Given the description of an element on the screen output the (x, y) to click on. 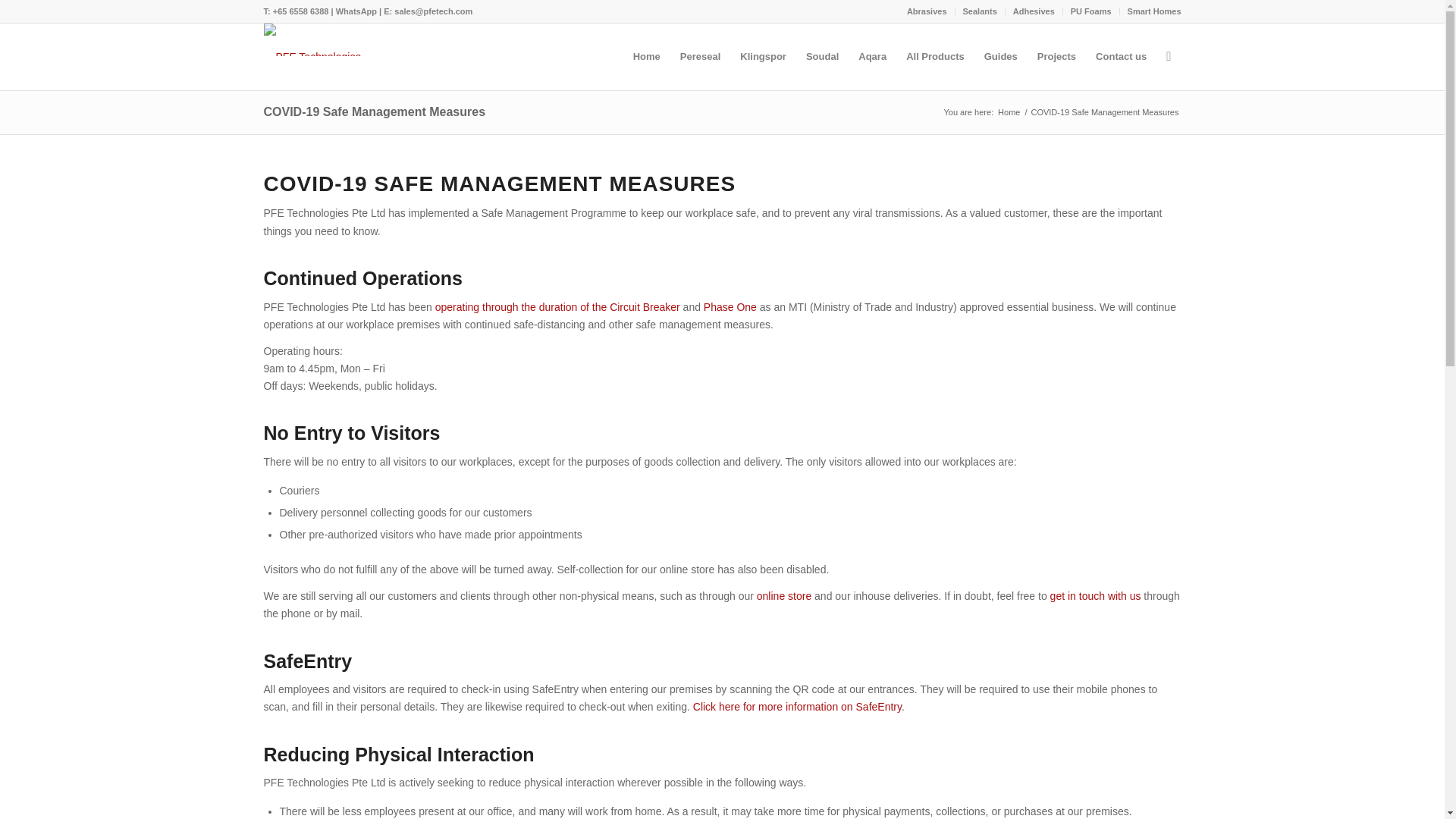
Permanent Link: COVID-19 Safe Management Measures (374, 111)
All Products (935, 56)
Klingspor (763, 56)
PU Foams (1091, 11)
PFE Technologies (312, 56)
Abrasives (927, 11)
PFE Technologies (1008, 112)
Smart Homes (1153, 11)
PFE Technologies (312, 39)
Pereseal (699, 56)
